Given the description of an element on the screen output the (x, y) to click on. 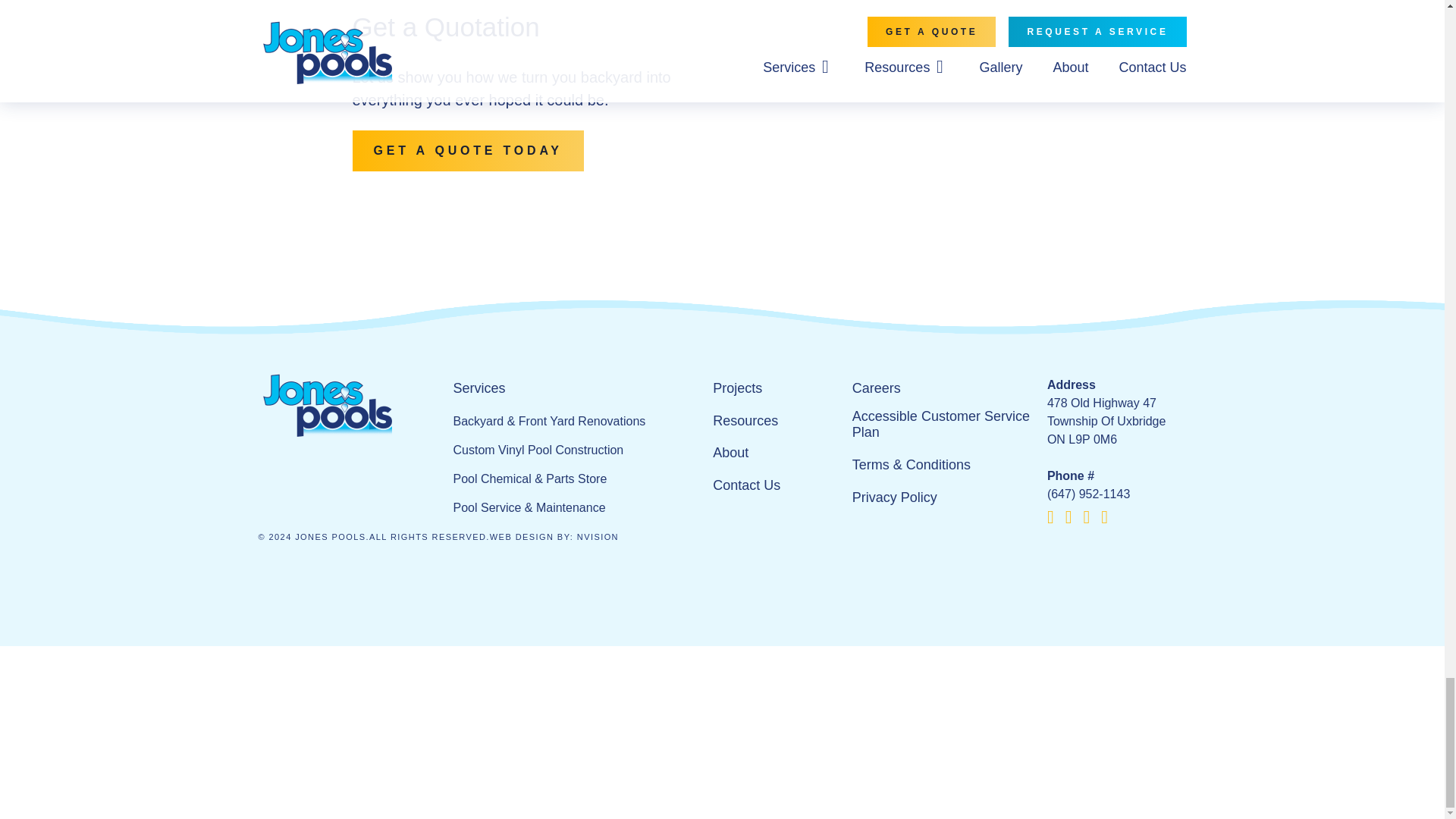
Services (478, 388)
Custom Vinyl Pool Construction (538, 450)
Resources (745, 421)
GET A QUOTE TODAY (467, 150)
Projects (737, 388)
About (730, 453)
